Given the description of an element on the screen output the (x, y) to click on. 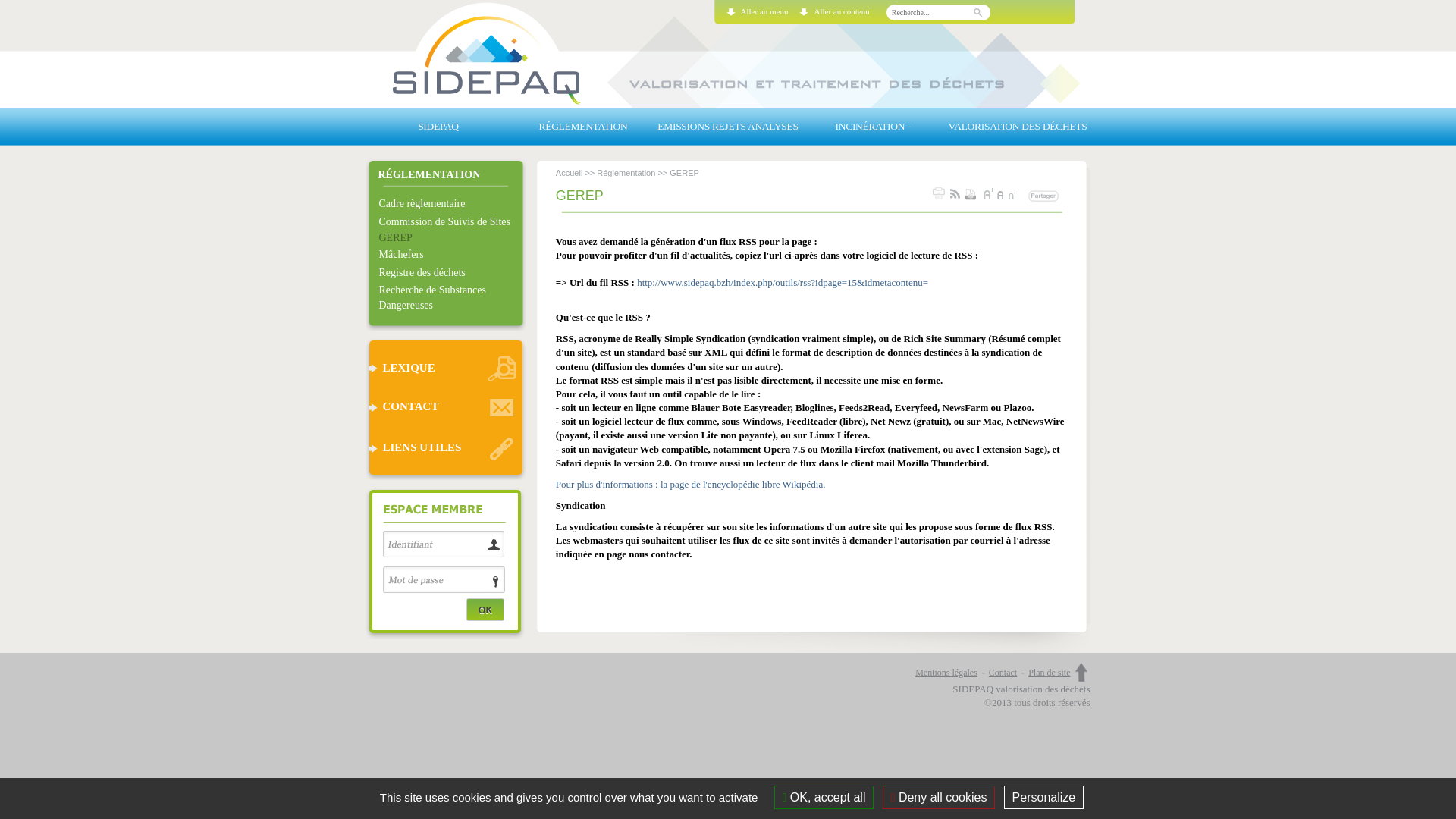
SIDEPAQ Element type: text (437, 126)
Plan de site Element type: text (1049, 672)
Haut de page Element type: text (1080, 672)
Sidepaq Element type: hover (727, 53)
GEREP Element type: text (449, 237)
EMISSIONS REJETS ANALYSES Element type: text (727, 126)
Deny all cookies Element type: text (938, 797)
Agrandir le texte Element type: hover (988, 192)
LIENS UTILES Element type: text (444, 448)
Accueil Element type: text (568, 172)
 >> GEREP Element type: text (676, 172)
CONTACT Element type: text (444, 407)
Reduir le texte Element type: hover (1013, 193)
OK, accept all Element type: text (824, 797)
Personalize Element type: text (1044, 797)
Contact Element type: text (1007, 672)
Commission de Suivis de Sites Element type: text (449, 221)
Taille par defaut Element type: hover (1001, 193)
Recherche de Substances Dangereuses Element type: text (449, 297)
LEXIQUE Element type: text (444, 367)
Imprimer la page Element type: hover (939, 193)
Partager Element type: hover (1043, 195)
